Given the description of an element on the screen output the (x, y) to click on. 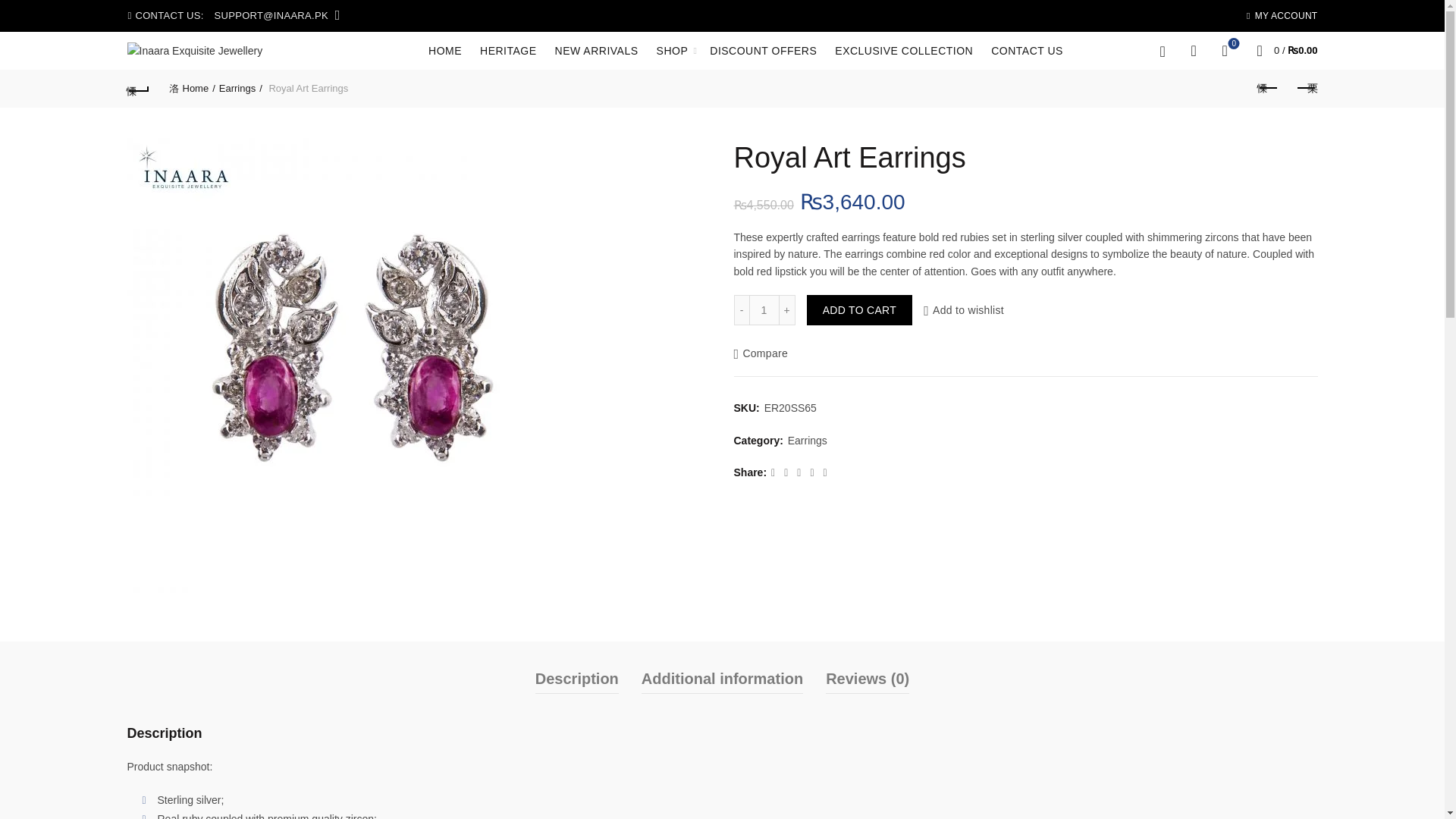
1 (763, 309)
HOME (445, 50)
HERITAGE (508, 50)
MY ACCOUNT (1281, 15)
Qty (763, 309)
NEW ARRIVALS (595, 50)
